Given the description of an element on the screen output the (x, y) to click on. 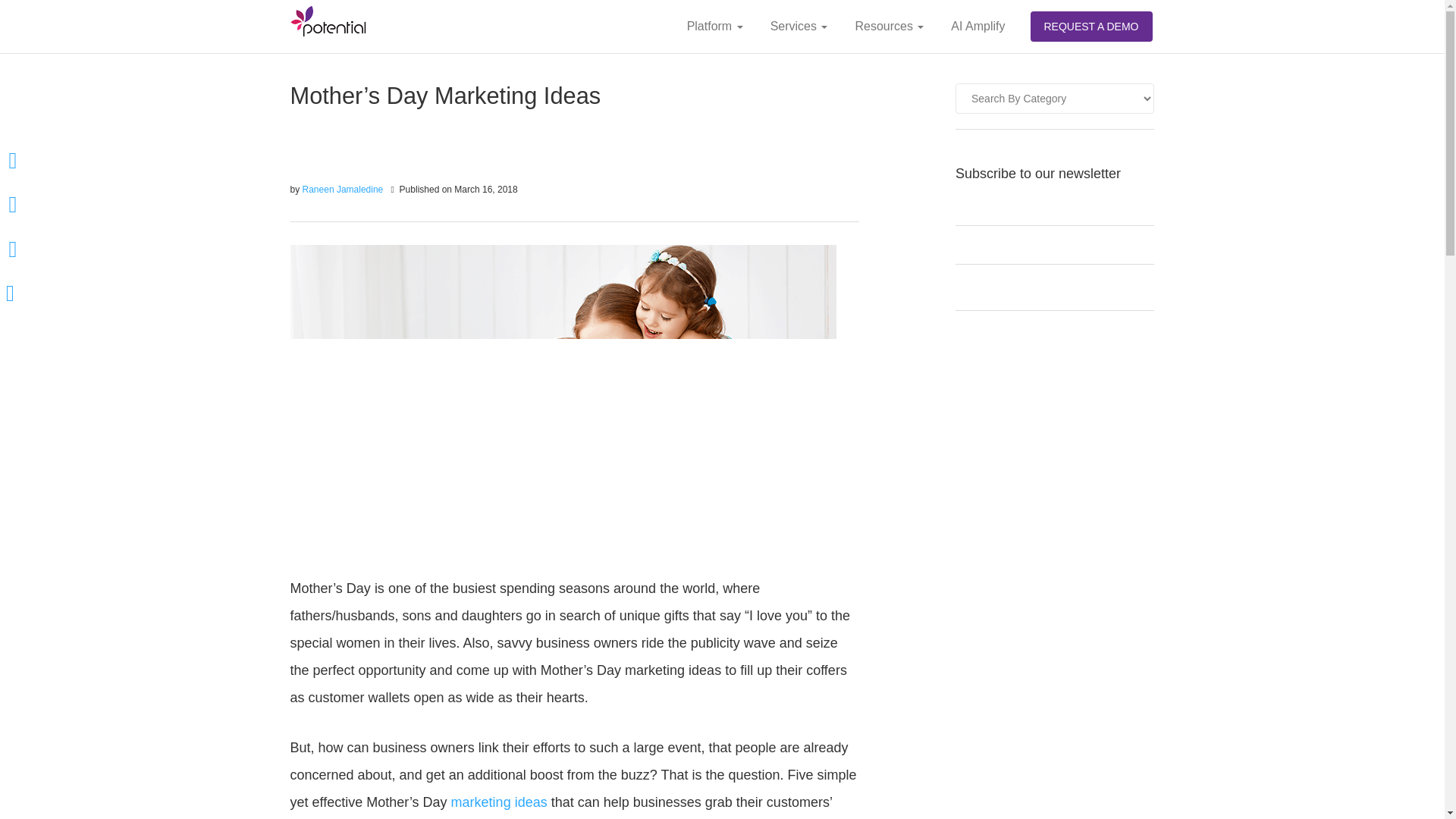
Raneen Jamaledine (343, 189)
REQUEST A DEMO (1090, 26)
AI Amplify (977, 26)
Services (799, 26)
marketing ideas (499, 801)
Resources (888, 26)
Platform (714, 26)
